Given the description of an element on the screen output the (x, y) to click on. 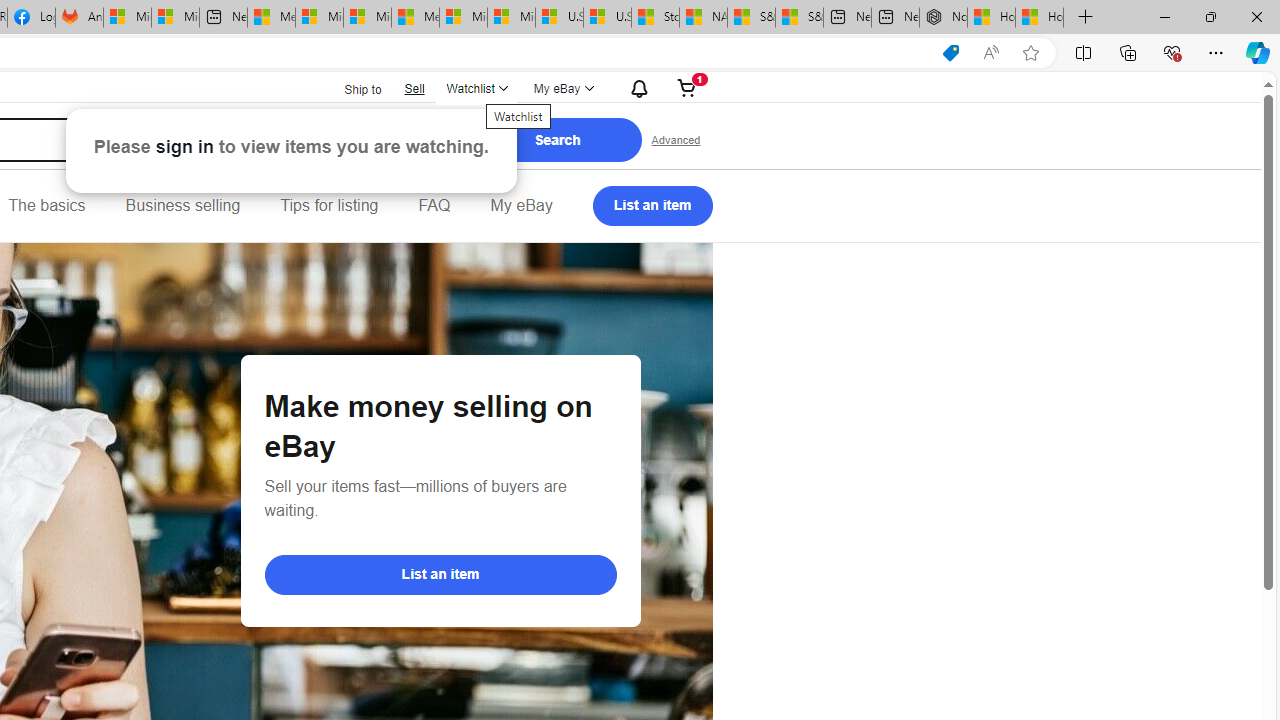
Expand Cart (687, 88)
Your shopping cart contains 1 item (687, 88)
Business selling (182, 205)
Business selling (182, 205)
FAQ (434, 205)
Advanced Search (675, 139)
My eBay (521, 205)
